Given the description of an element on the screen output the (x, y) to click on. 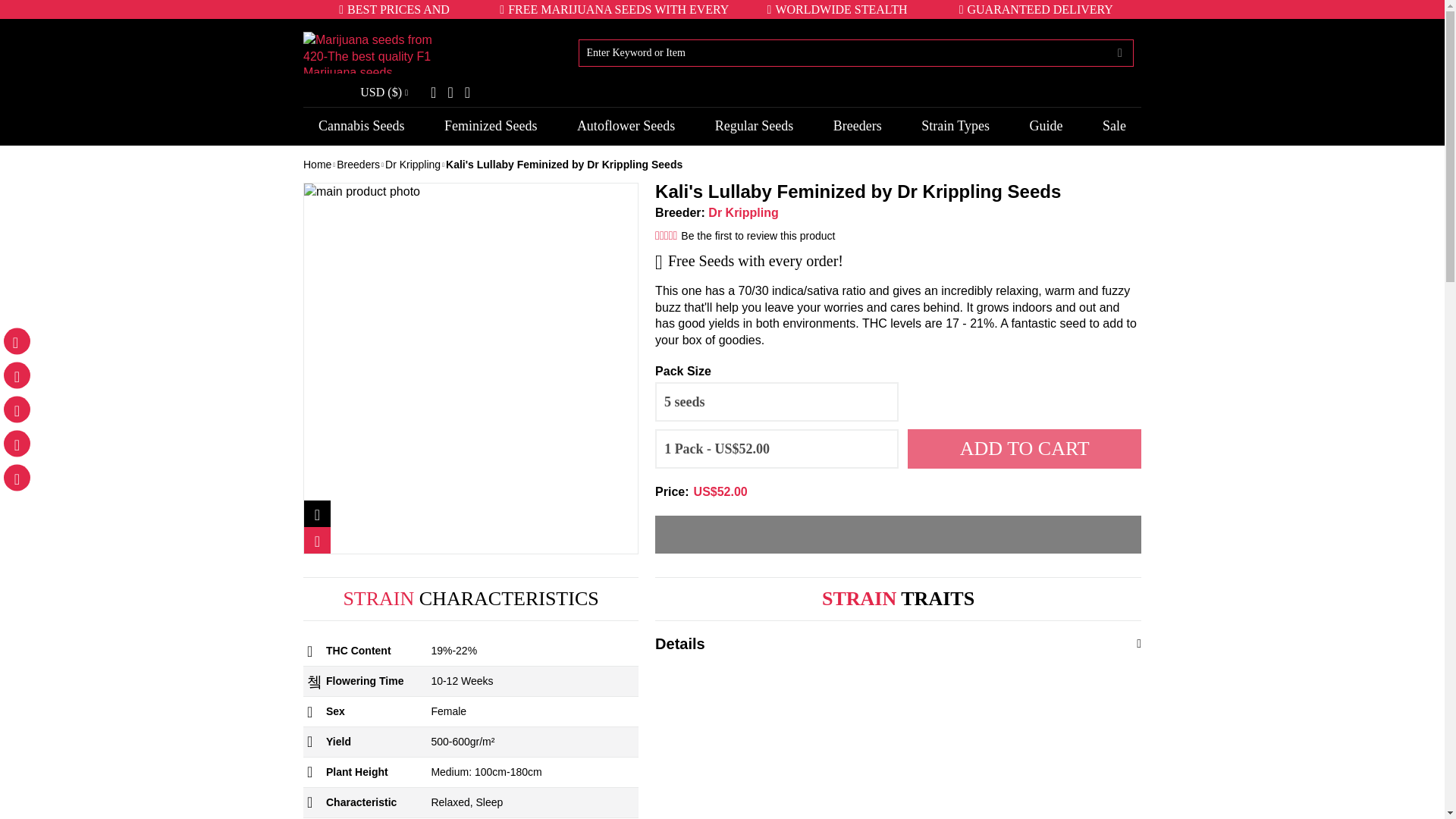
Feminized Seeds (490, 126)
Dr Krippling (415, 164)
Go to Home Page (319, 164)
BEST PRICES AND PROMOTIONS (393, 17)
Marijuana seeds from 420-The best quality F1 Marijuana seeds (367, 52)
Cannabis Seeds (360, 126)
FREE MARIJUANA SEEDS WITH EVERY ORDER (613, 17)
Autoflower Seeds (626, 126)
Search (1119, 52)
Add to Cart (1024, 448)
